Given the description of an element on the screen output the (x, y) to click on. 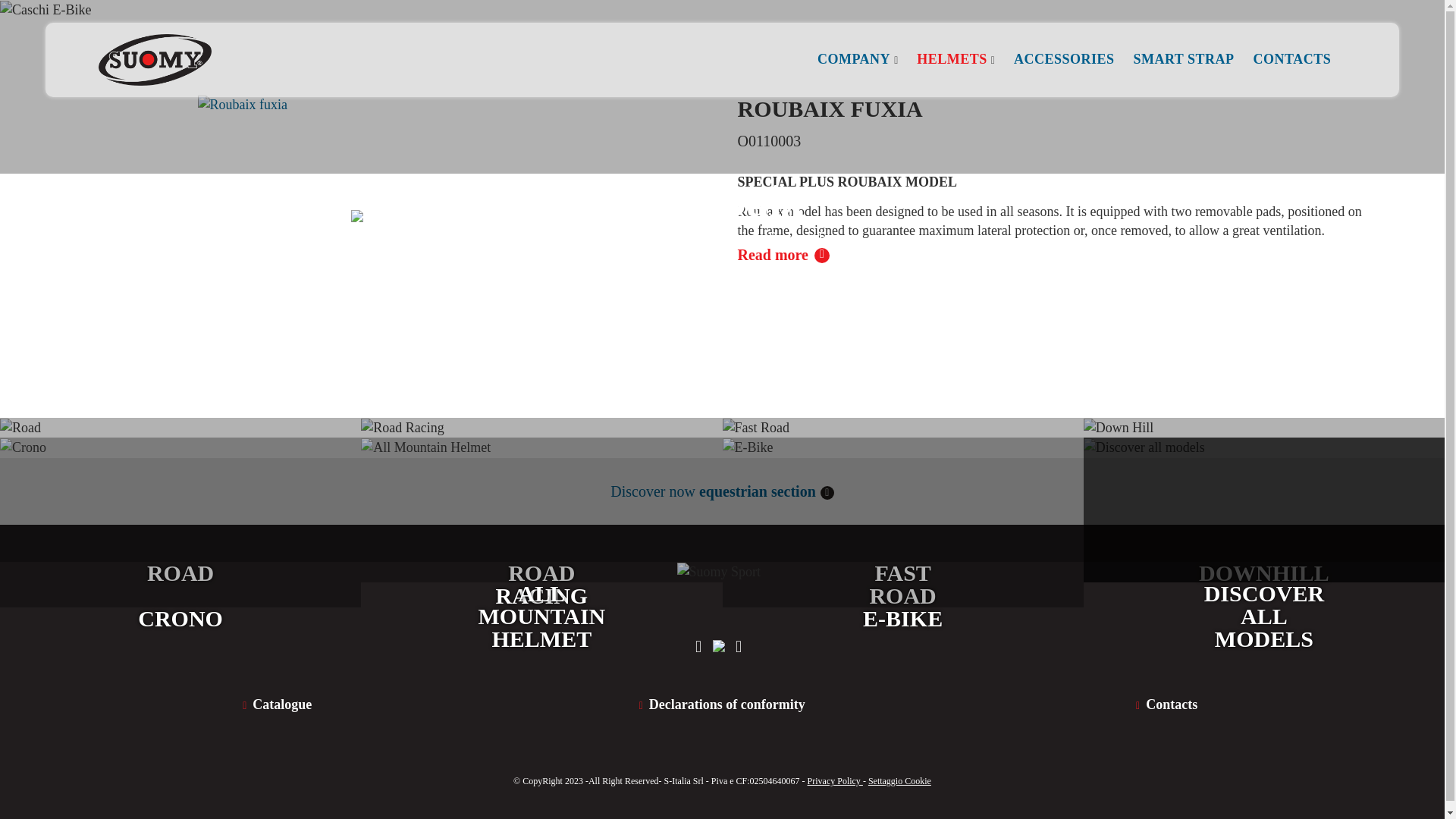
cycling helmets - Crono (180, 522)
cycling helmets - E-Bike (902, 522)
cycling helmets - Road Racing (541, 489)
SMART STRAP (1182, 59)
Catalogue Cycling (276, 704)
Road - Cycling Helmets (180, 489)
CONTACTS (1292, 59)
ACCESSORIES (1064, 59)
Helmets (667, 237)
ROAD (180, 489)
